Given the description of an element on the screen output the (x, y) to click on. 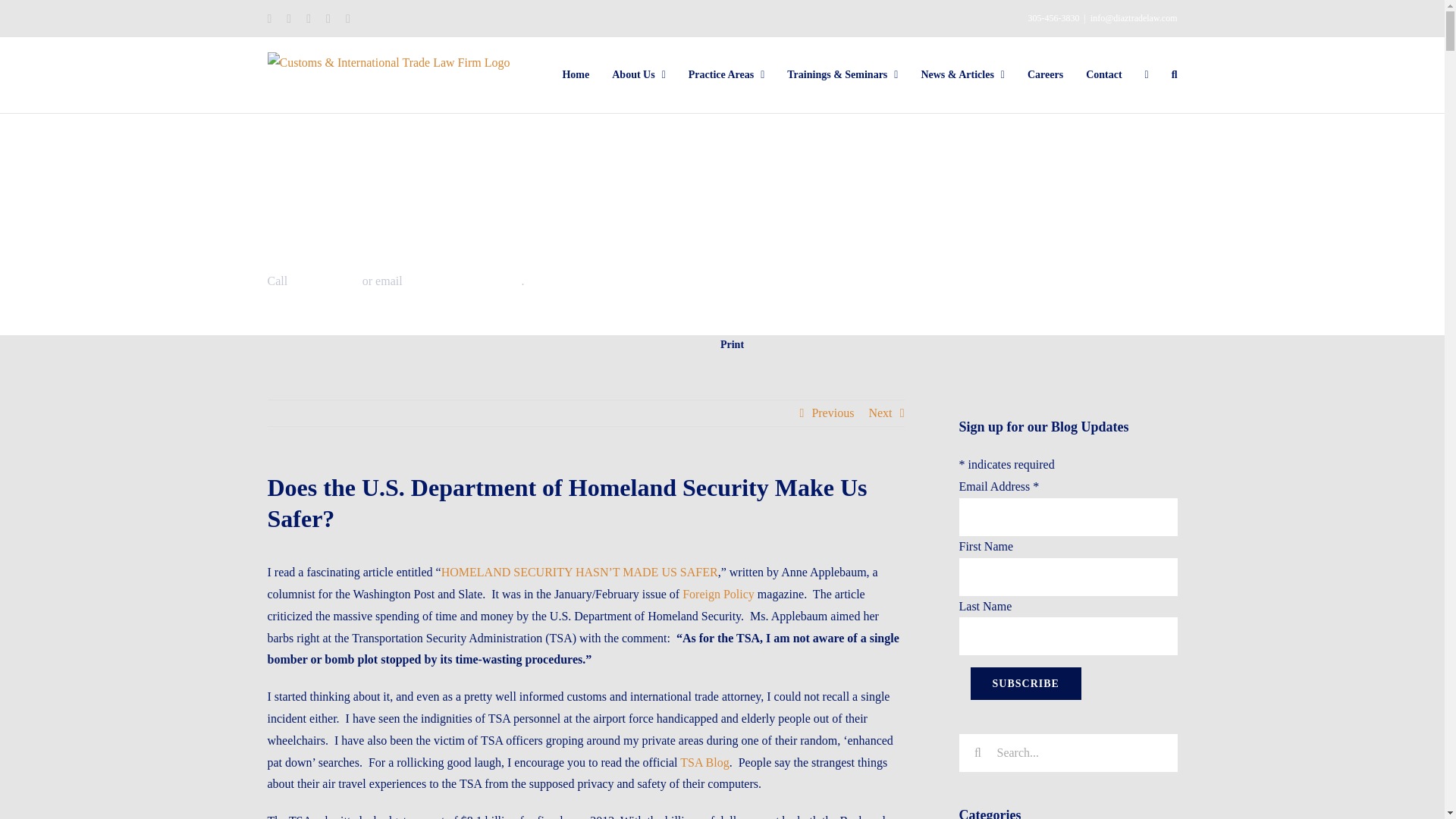
Subscribe (1026, 683)
Practice Areas (726, 74)
